Given the description of an element on the screen output the (x, y) to click on. 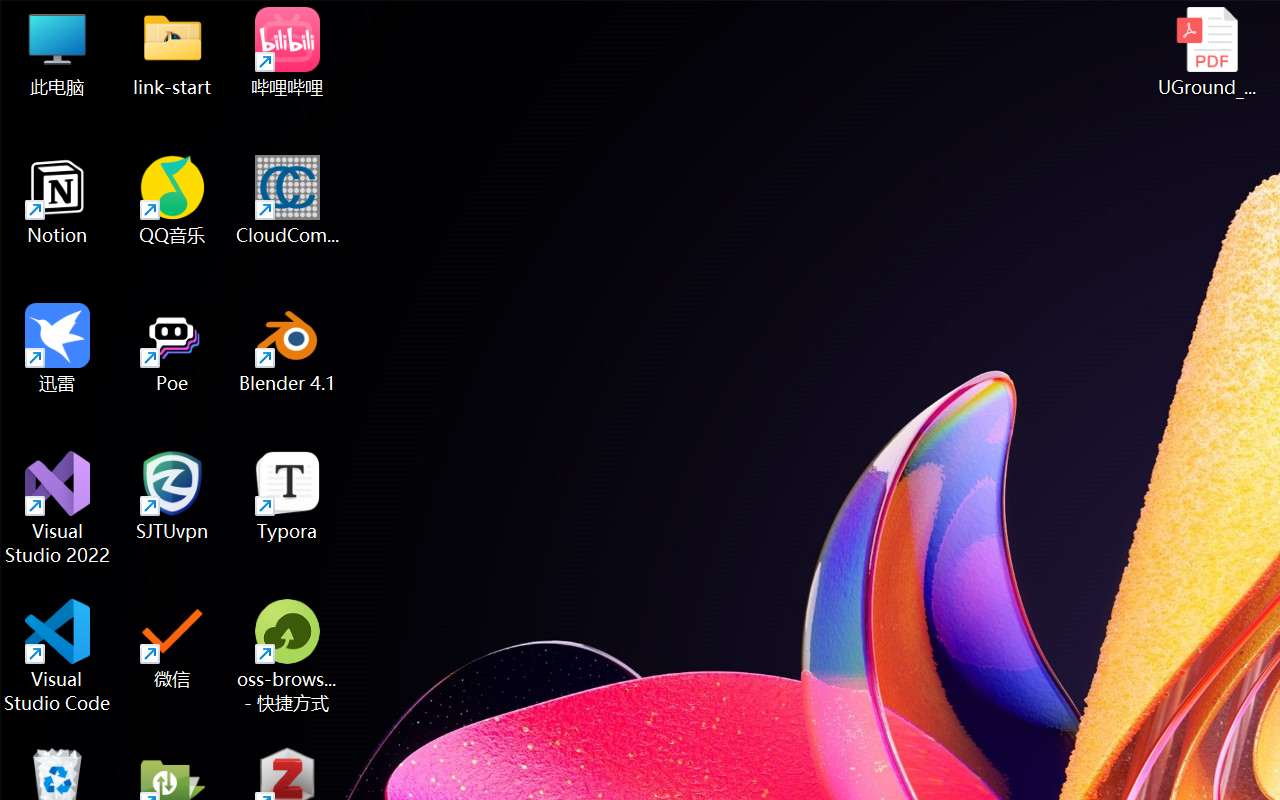
Blender 4.1 (287, 348)
UGround_paper.pdf (1206, 52)
Visual Studio Code (57, 656)
CloudCompare (287, 200)
Visual Studio 2022 (57, 508)
Typora (287, 496)
